Given the description of an element on the screen output the (x, y) to click on. 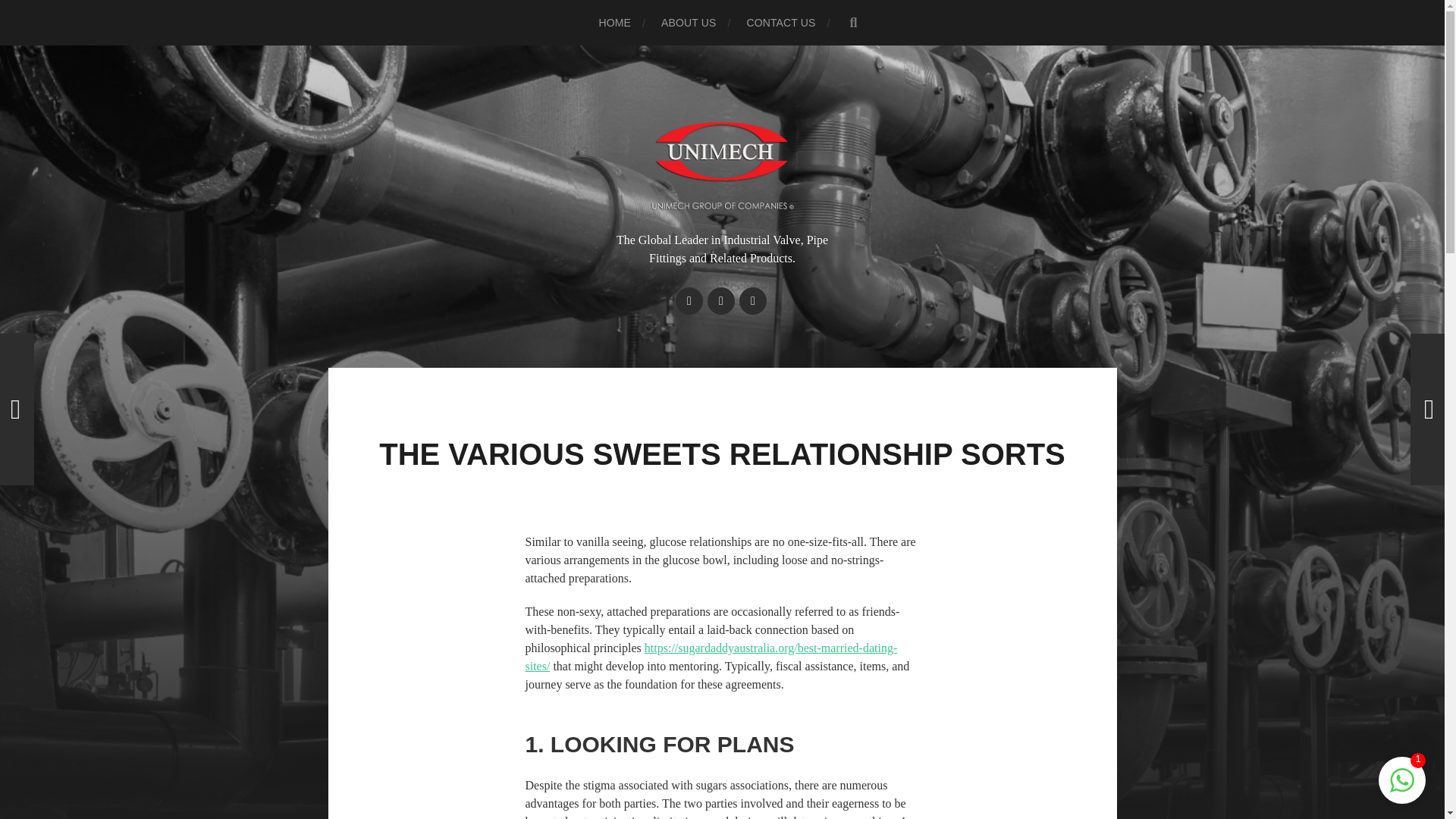
ABOUT US (688, 22)
1 (1401, 788)
CONTACT US (780, 22)
